Given the description of an element on the screen output the (x, y) to click on. 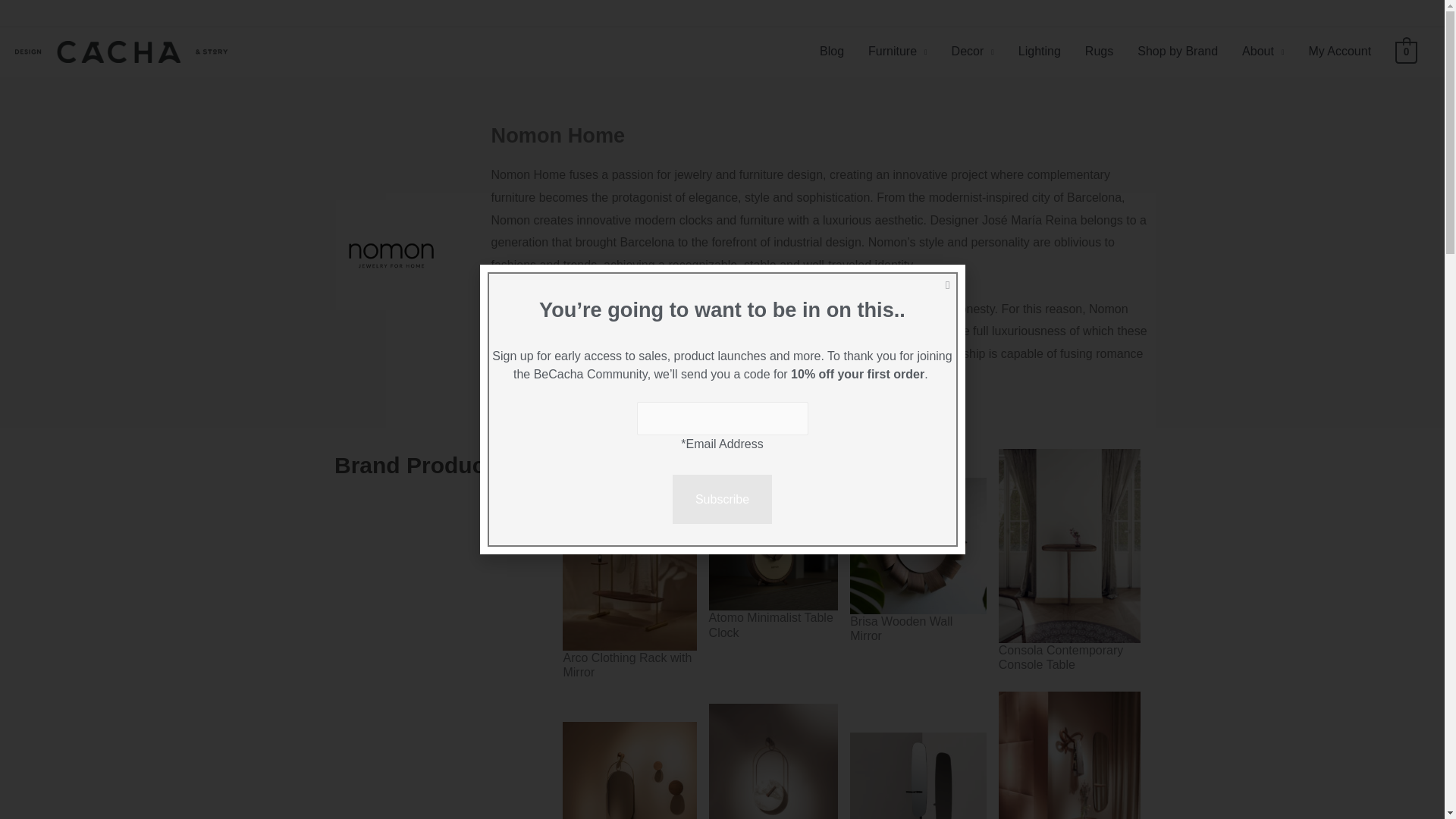
About (1262, 51)
Lighting (1039, 51)
Blog (832, 51)
Furniture (897, 51)
View your shopping cart (1405, 51)
Decor (972, 51)
My Account (1339, 51)
Rugs (1099, 51)
Subscribe (721, 499)
Shop by Brand (1177, 51)
